Given the description of an element on the screen output the (x, y) to click on. 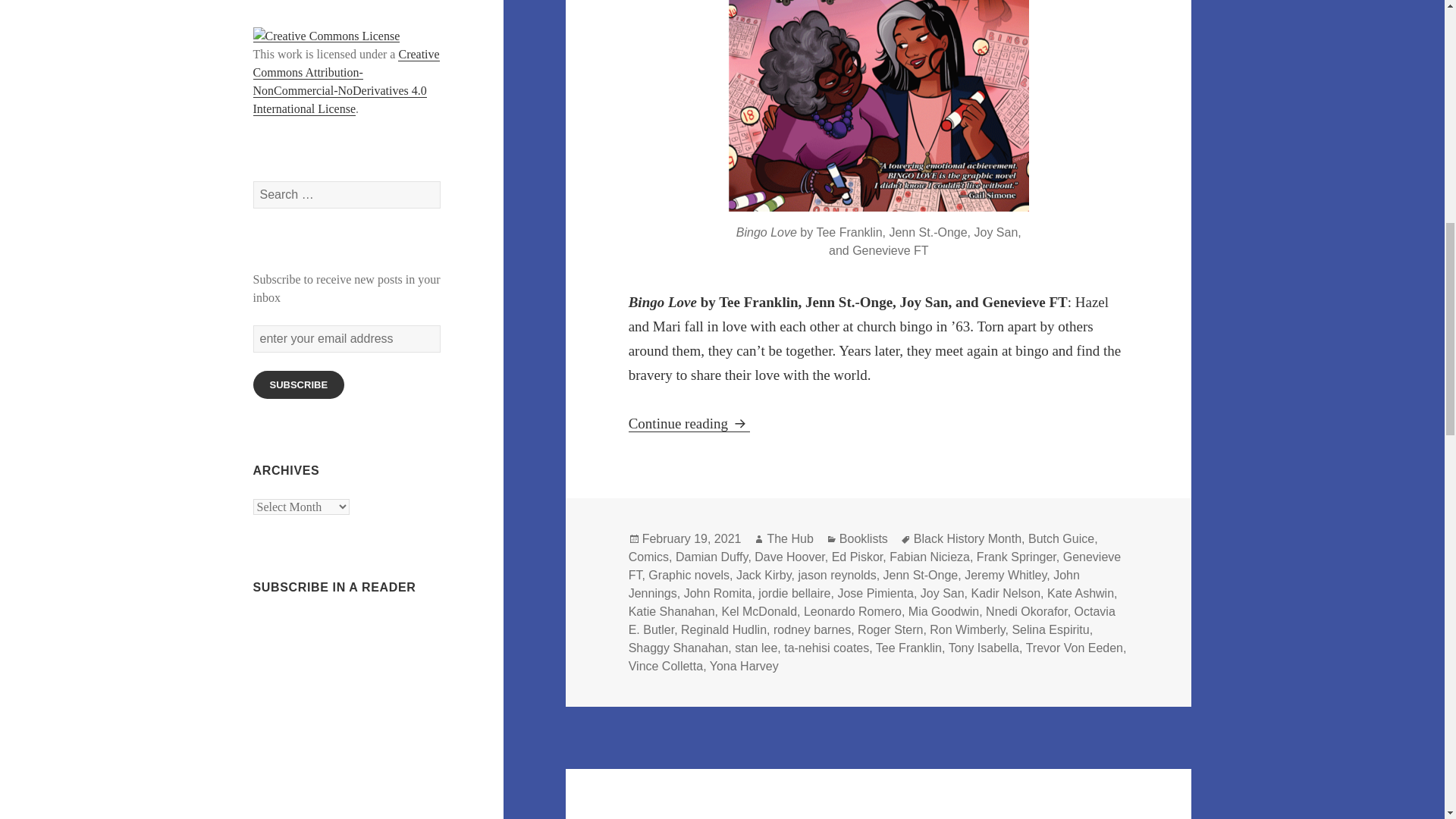
Black History Month (968, 539)
Booklists (864, 539)
The Hub (789, 539)
SUBSCRIBE (299, 384)
February 19, 2021 (691, 539)
